Given the description of an element on the screen output the (x, y) to click on. 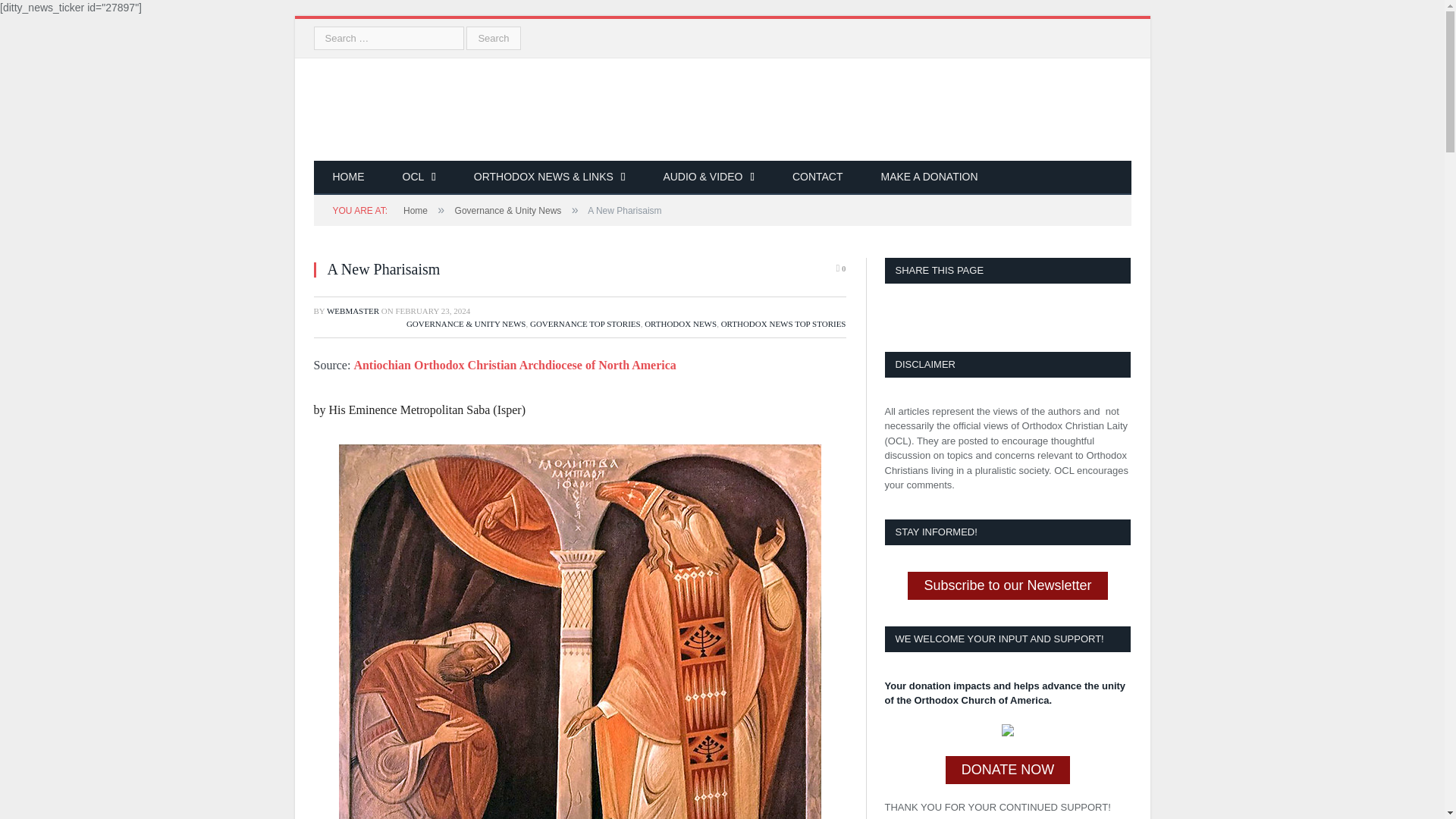
Search (492, 37)
MAKE A DONATION (929, 177)
2024-02-23 (432, 310)
Search (492, 37)
Search (492, 37)
Home (415, 210)
Posts by Webmaster (352, 310)
CONTACT (817, 177)
OCL (419, 177)
HOME (349, 177)
GOVERNANCE TOP STORIES (584, 322)
WEBMASTER (352, 310)
